Given the description of an element on the screen output the (x, y) to click on. 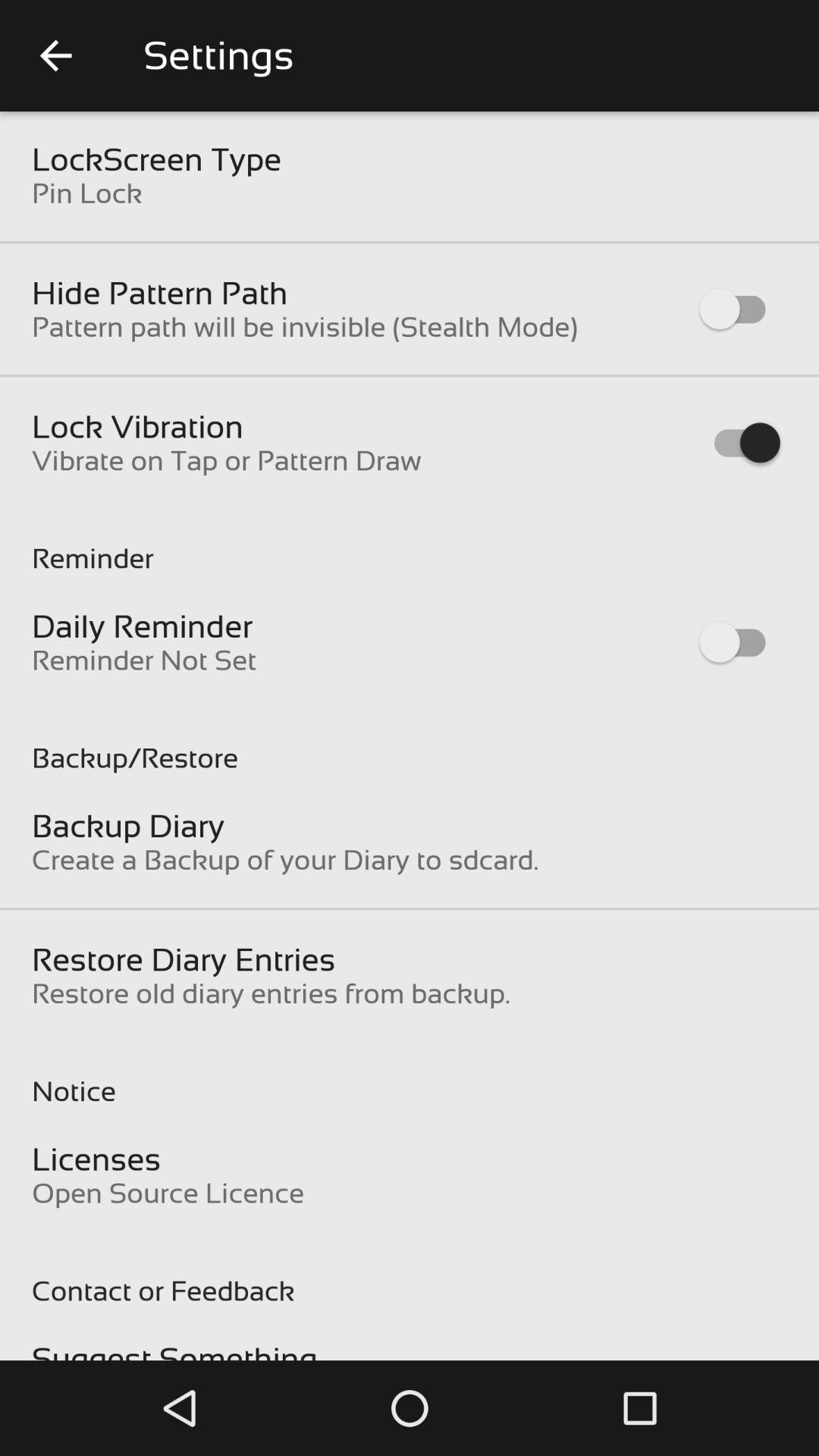
choose item below the reminder (141, 626)
